Given the description of an element on the screen output the (x, y) to click on. 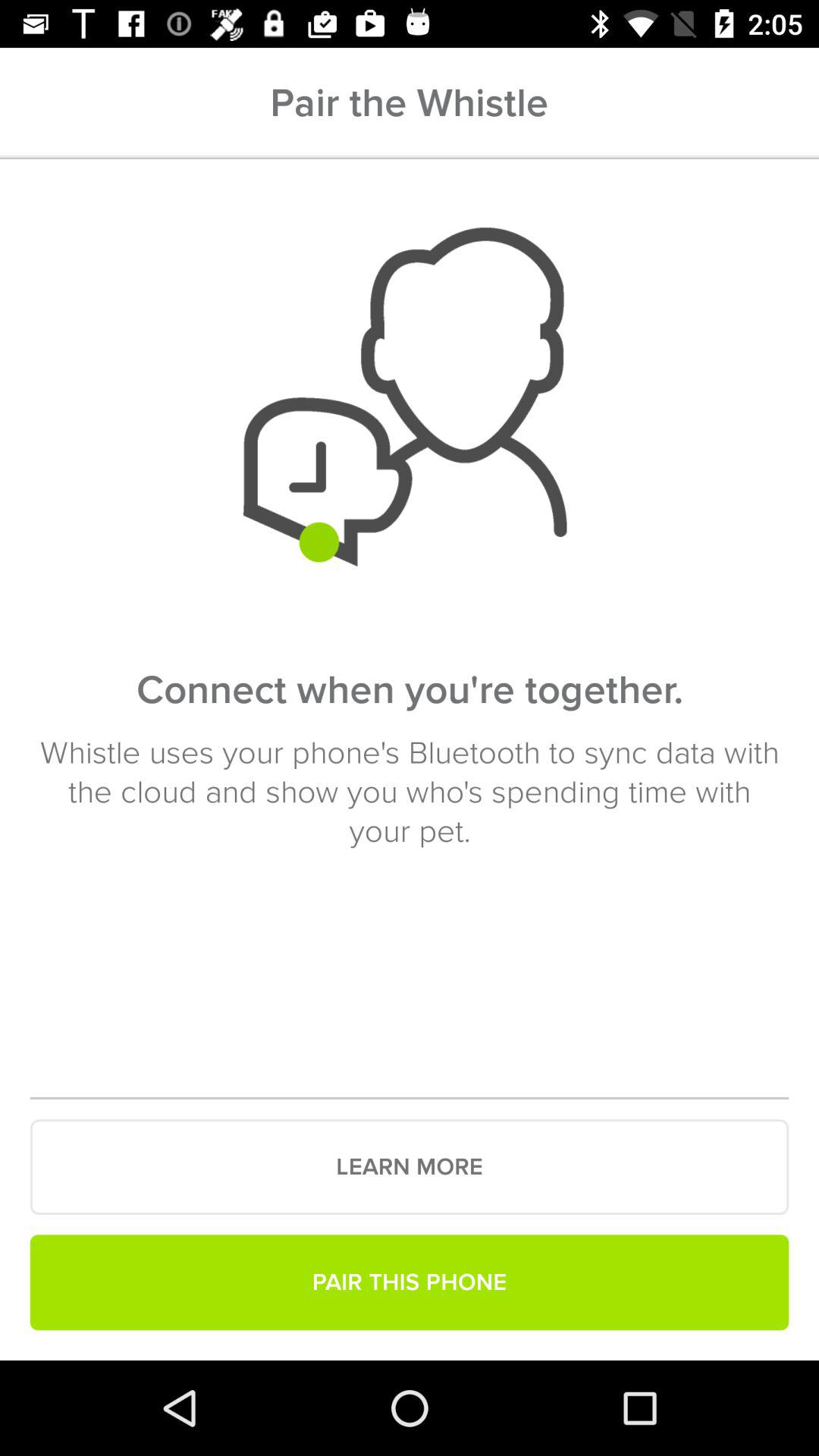
select the learn more icon (409, 1166)
